Given the description of an element on the screen output the (x, y) to click on. 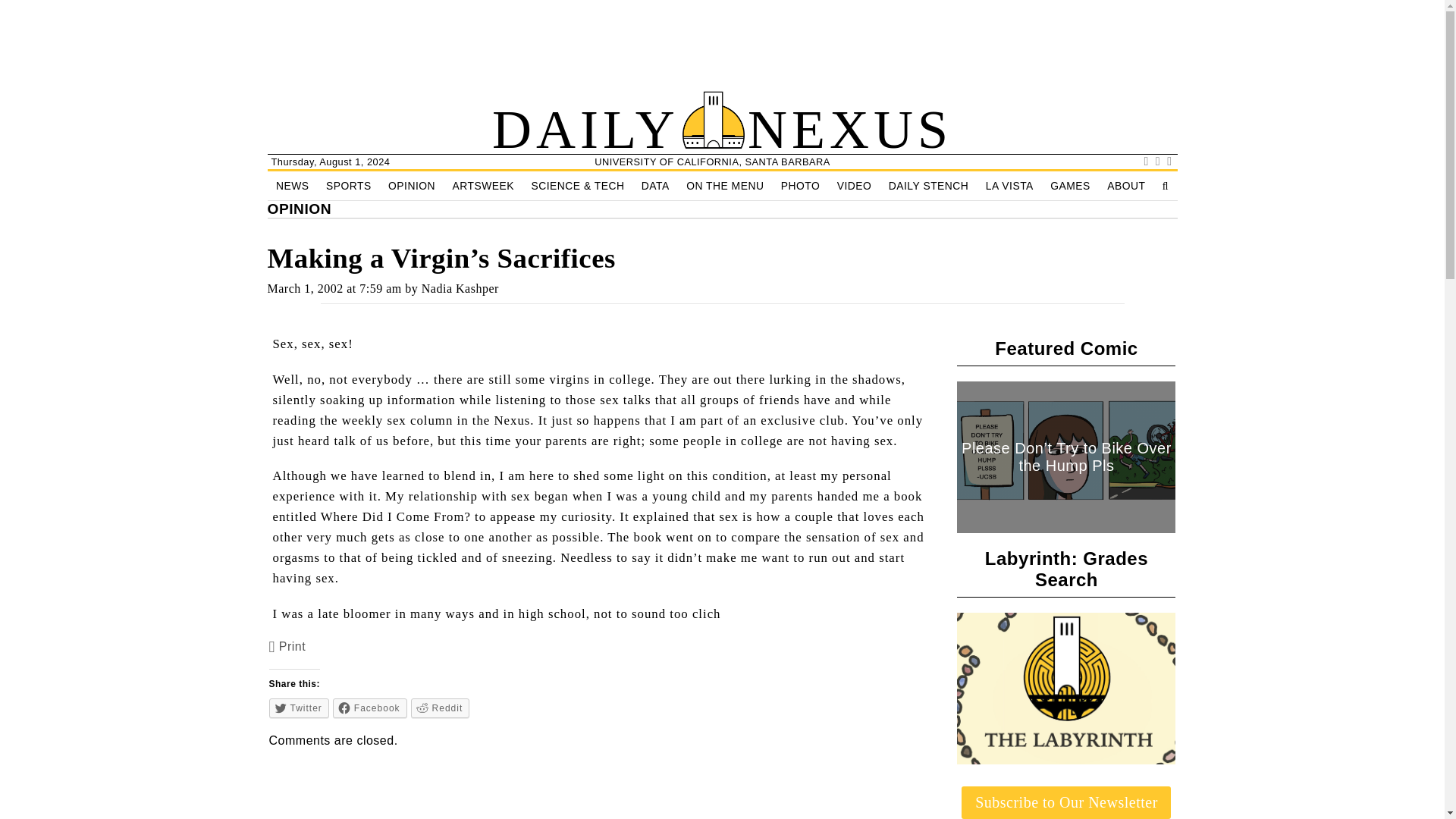
Click to share on Reddit (440, 708)
Click to share on Facebook (370, 708)
Posts by Nadia Kashper (460, 287)
Click to share on Twitter (299, 708)
